Given the description of an element on the screen output the (x, y) to click on. 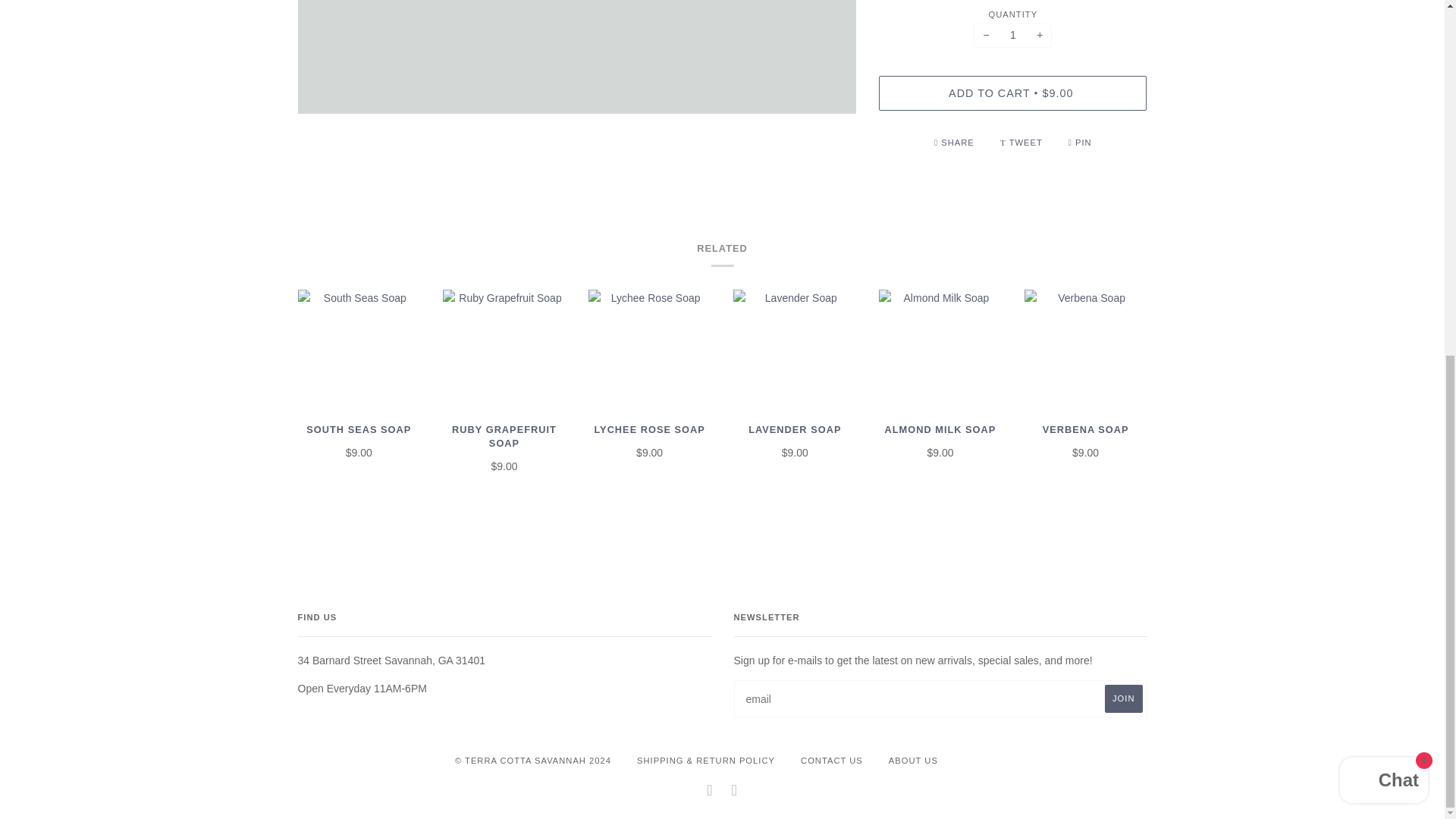
Join (1123, 698)
Shopify online store chat (1383, 158)
1 (1012, 35)
